Given the description of an element on the screen output the (x, y) to click on. 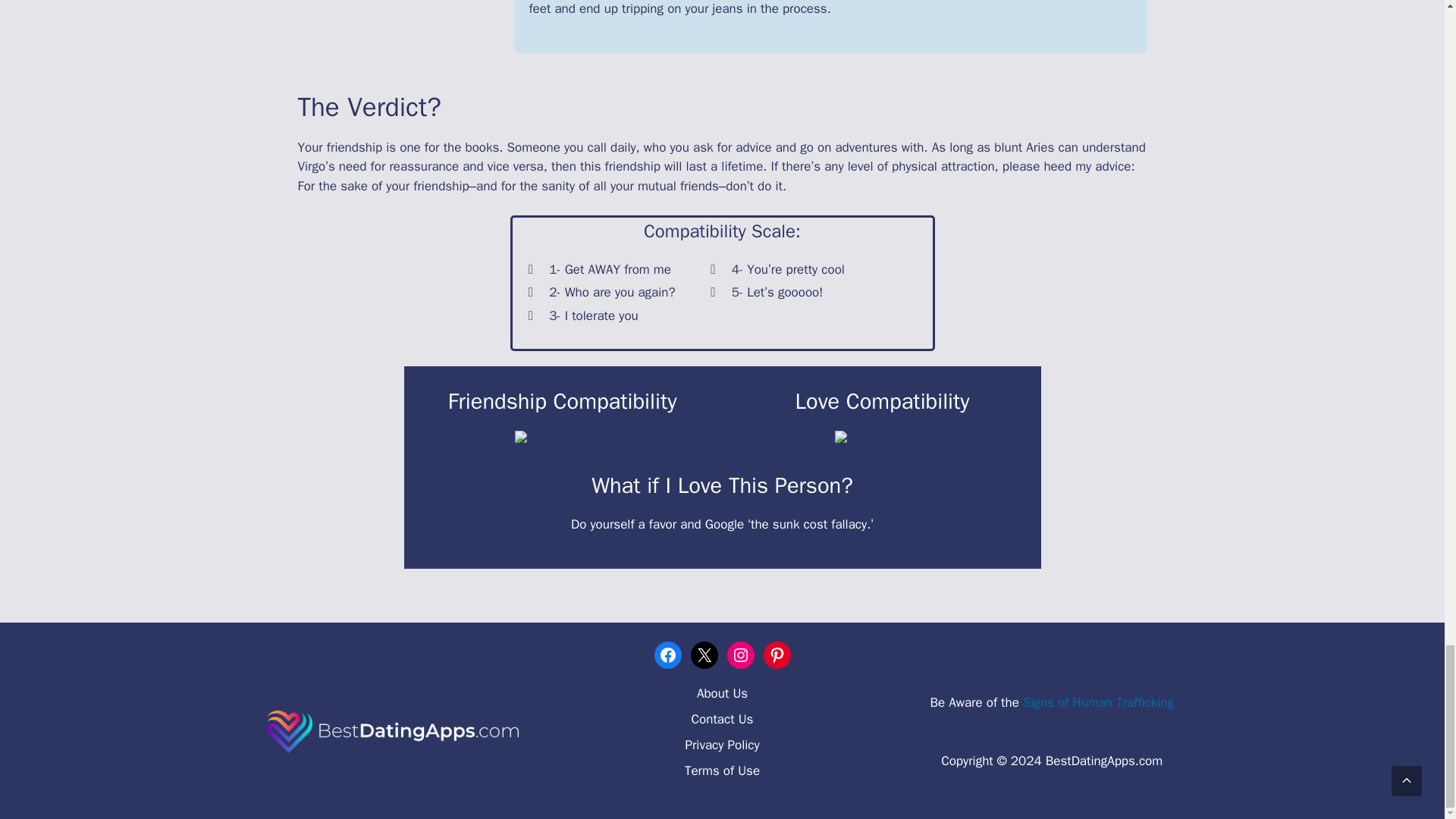
3.0 Gold Stars (882, 440)
4.0 Gold Stars (562, 440)
